Given the description of an element on the screen output the (x, y) to click on. 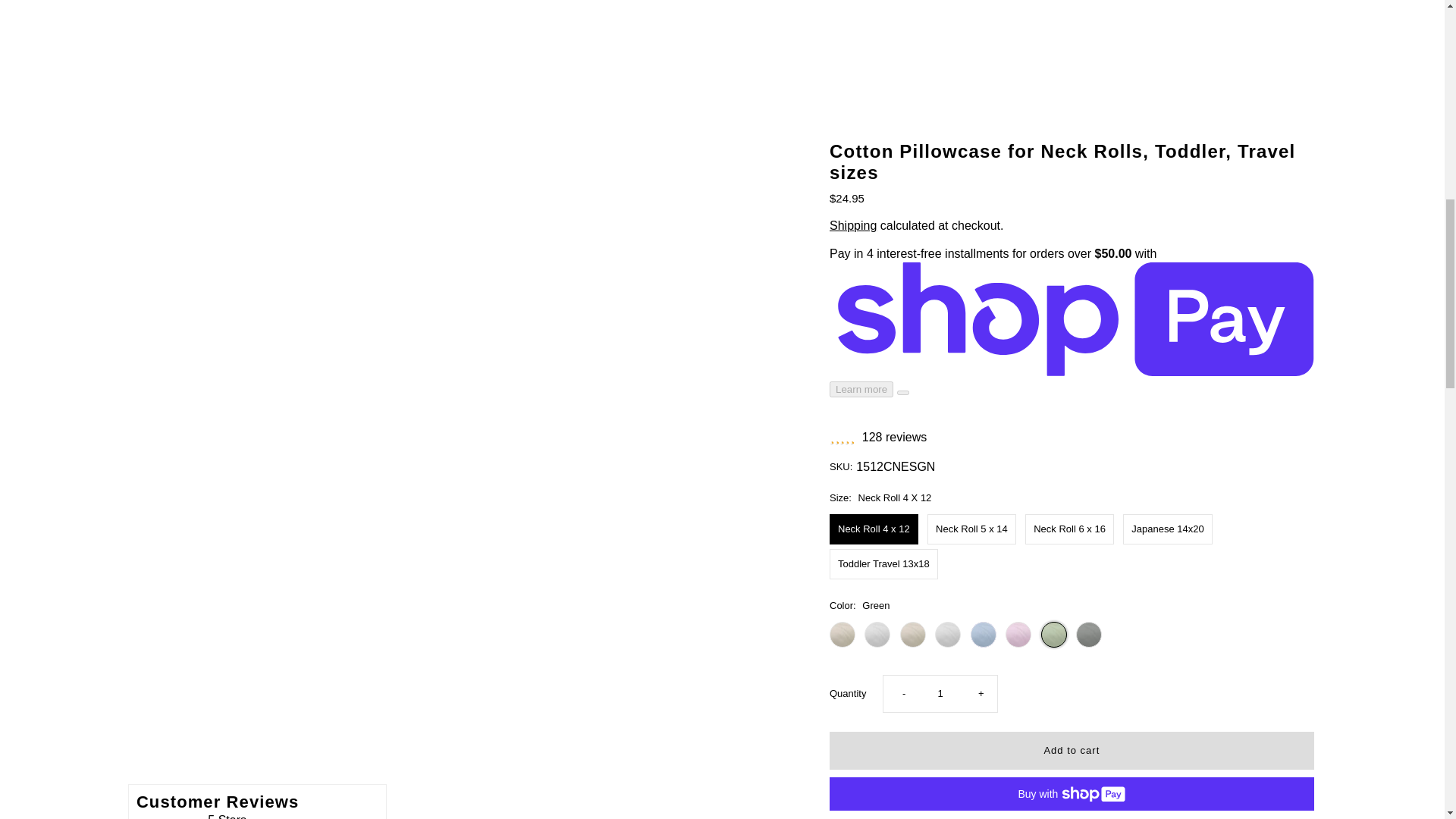
1 (940, 3)
Add to cart (1071, 45)
